Given the description of an element on the screen output the (x, y) to click on. 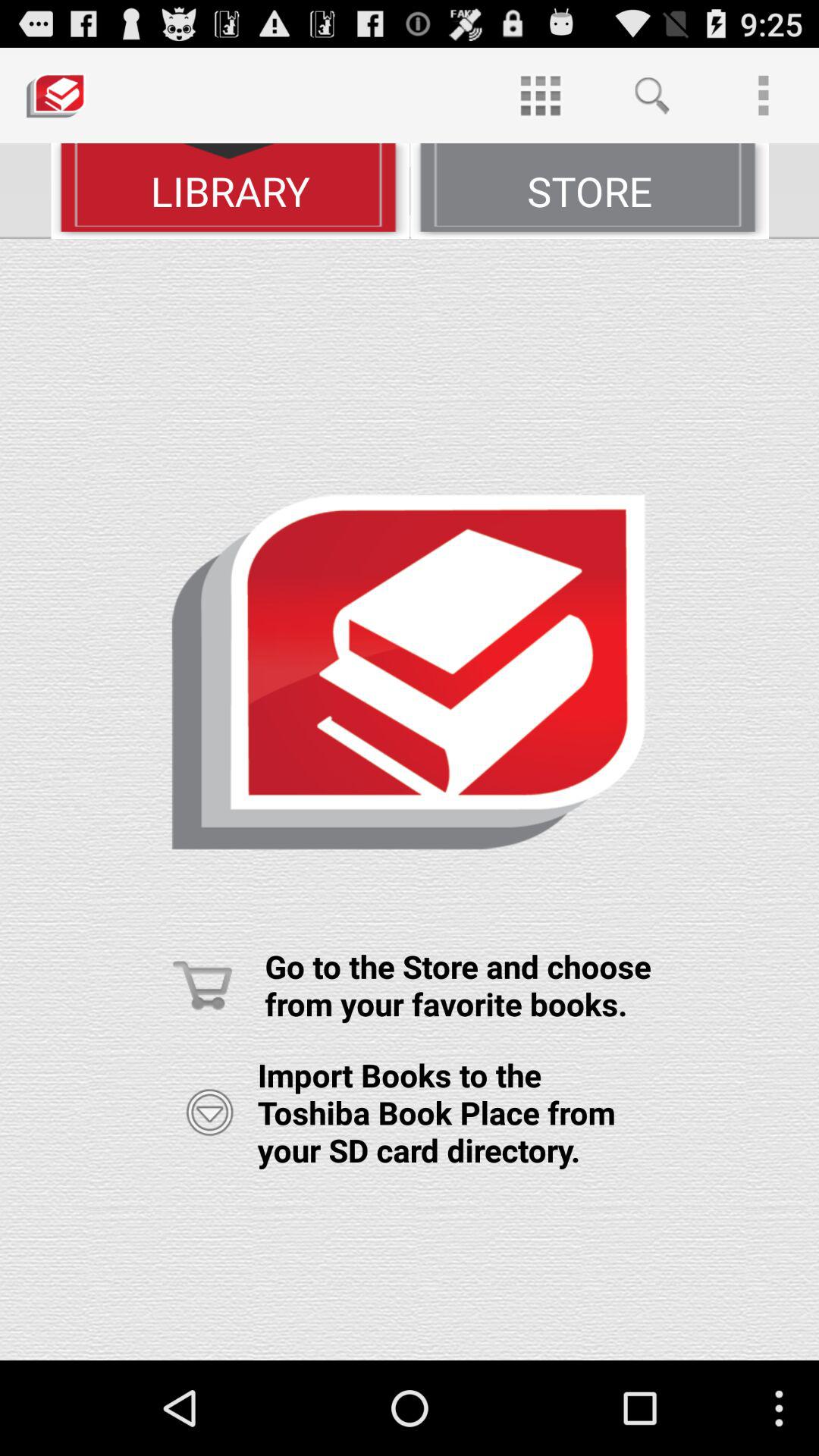
go get a fravorit book (409, 799)
